Given the description of an element on the screen output the (x, y) to click on. 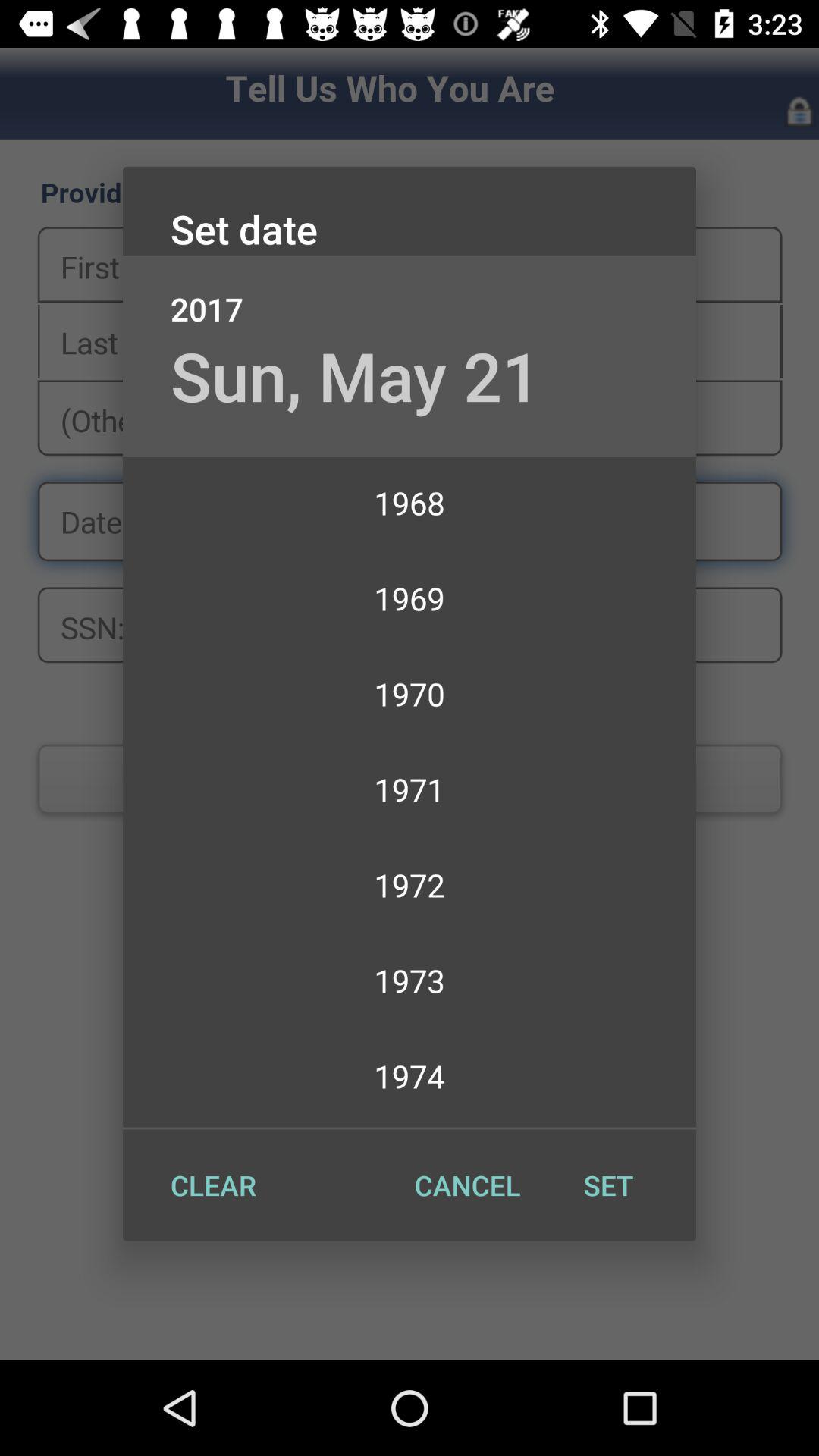
open the icon below set date item (409, 292)
